Given the description of an element on the screen output the (x, y) to click on. 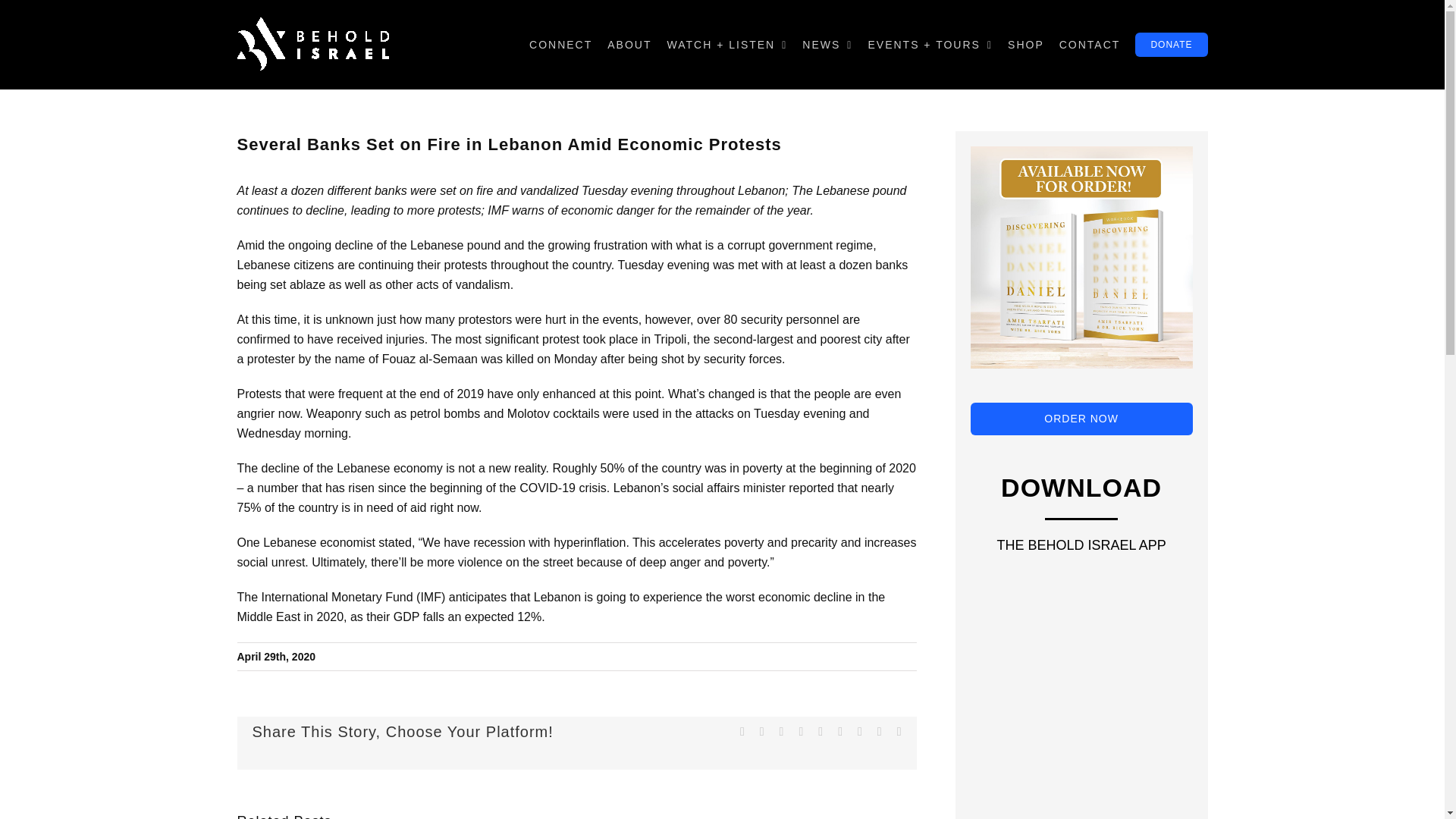
app-phone-mock-2019 (1080, 760)
